Given the description of an element on the screen output the (x, y) to click on. 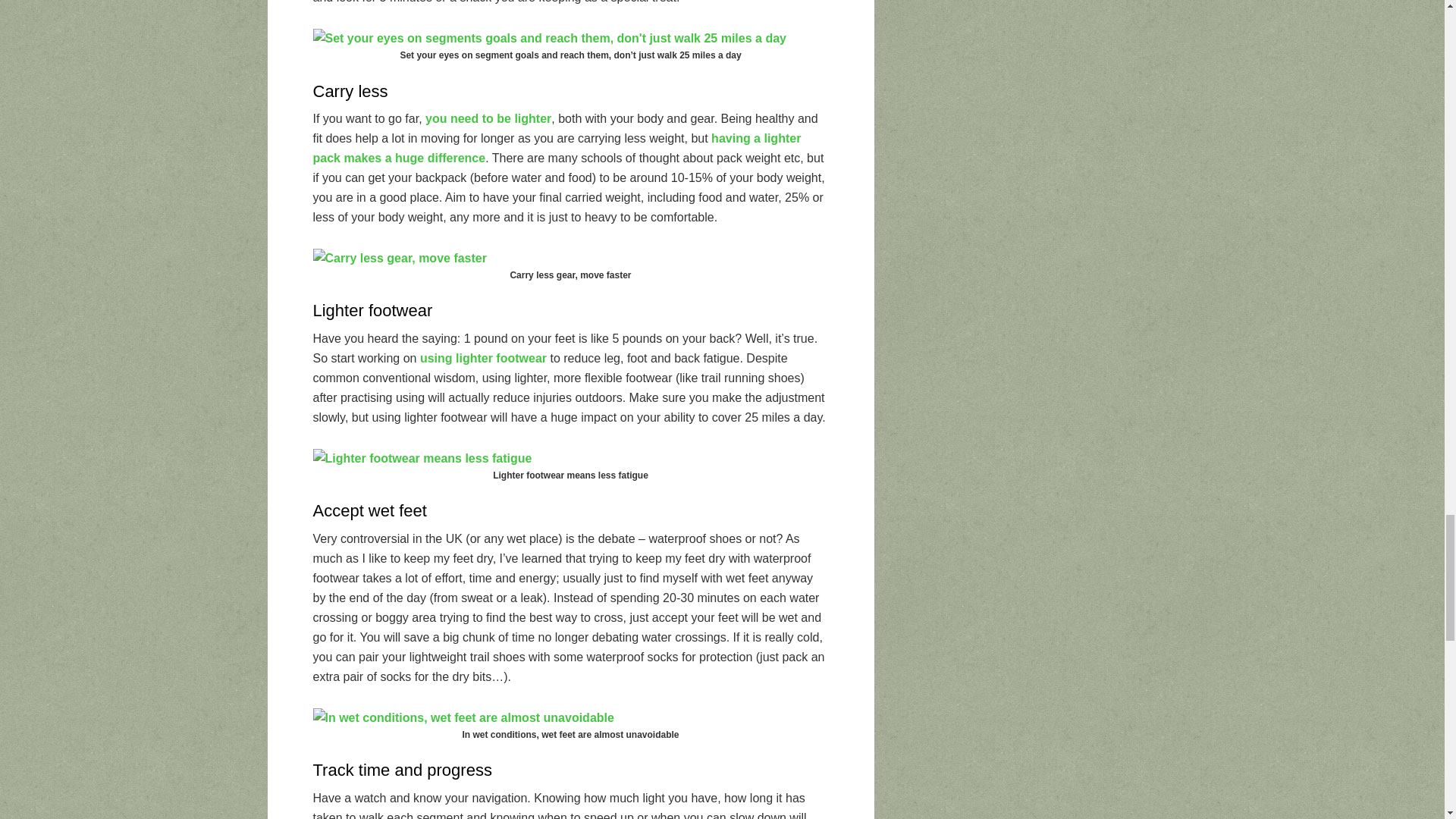
having a lighter pack makes a huge difference (556, 147)
you need to be lighter (486, 118)
using lighter footwear (483, 358)
